Given the description of an element on the screen output the (x, y) to click on. 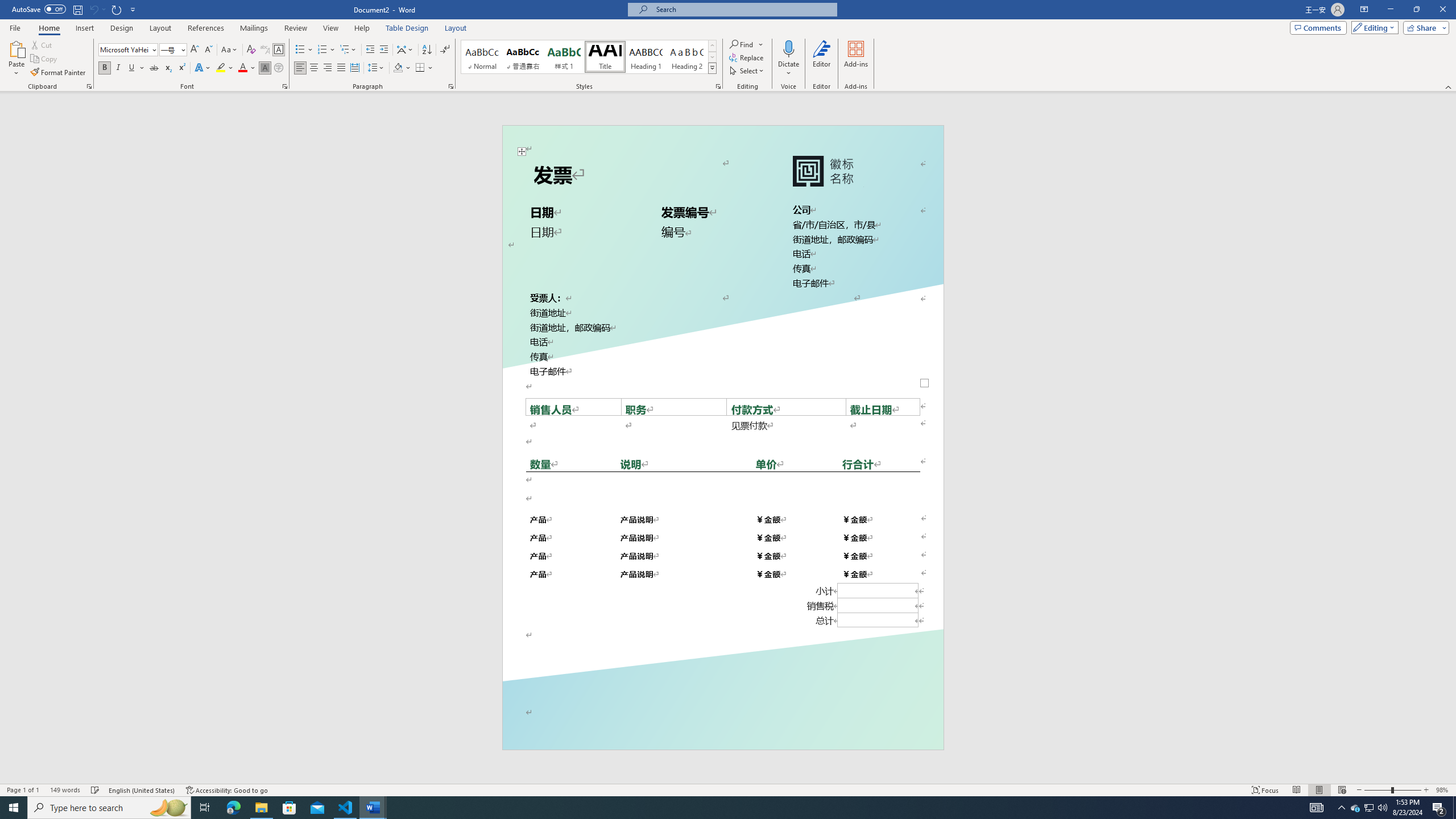
Shading RGB(0, 0, 0) (397, 67)
Show/Hide Editing Marks (444, 49)
Numbering (326, 49)
Bullets (304, 49)
Shrink Font (208, 49)
Collapse the Ribbon (1448, 86)
Microsoft search (742, 9)
Styles (711, 67)
Find (742, 44)
Accessibility Checker Accessibility: Good to go (227, 790)
Page Number Page 1 of 1 (22, 790)
Repeat Default Char Border (117, 9)
Shading (402, 67)
Justify (340, 67)
Comments (1318, 27)
